Given the description of an element on the screen output the (x, y) to click on. 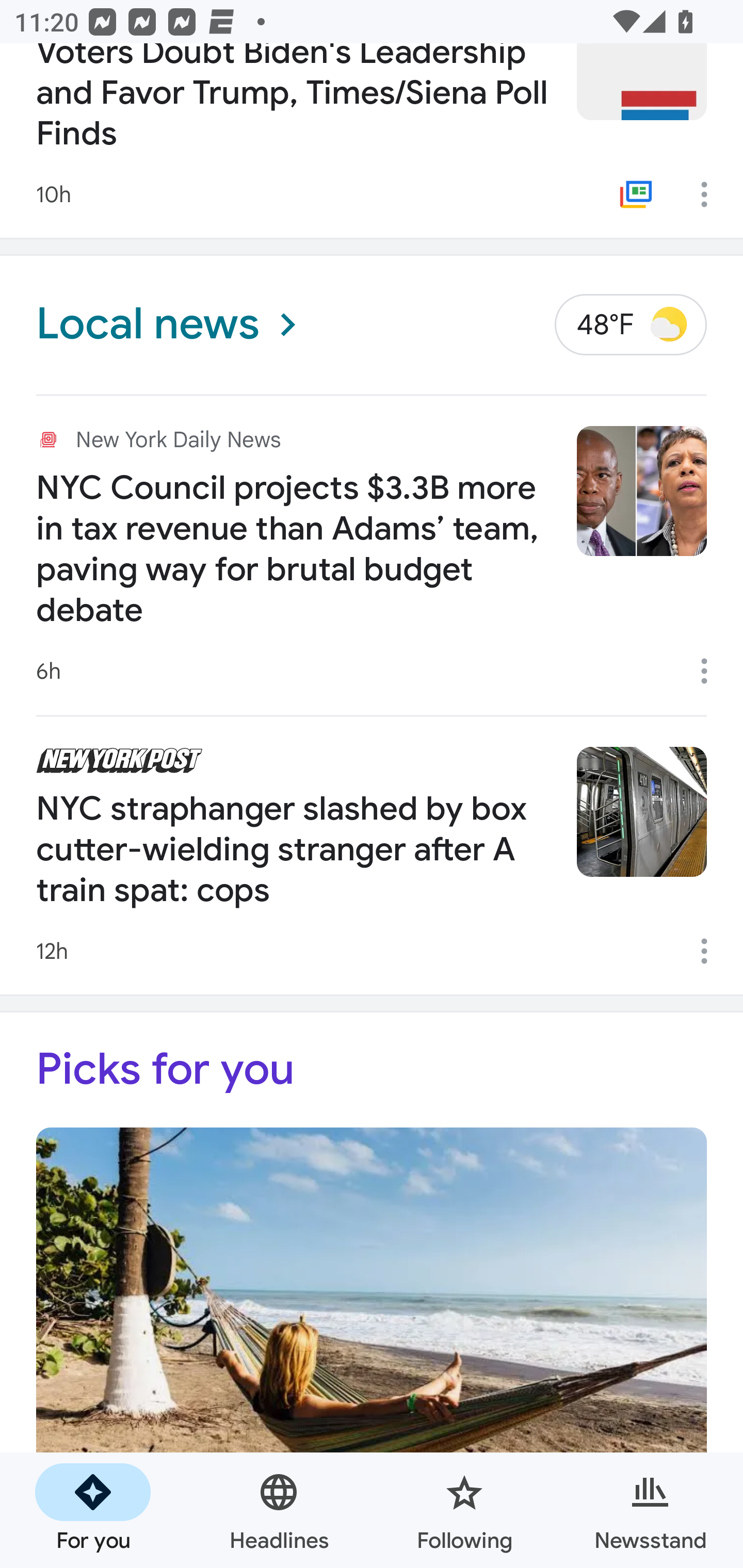
More options (711, 194)
More options (711, 671)
More options (711, 950)
For you (92, 1509)
Headlines (278, 1509)
Following (464, 1509)
Newsstand (650, 1509)
